Given the description of an element on the screen output the (x, y) to click on. 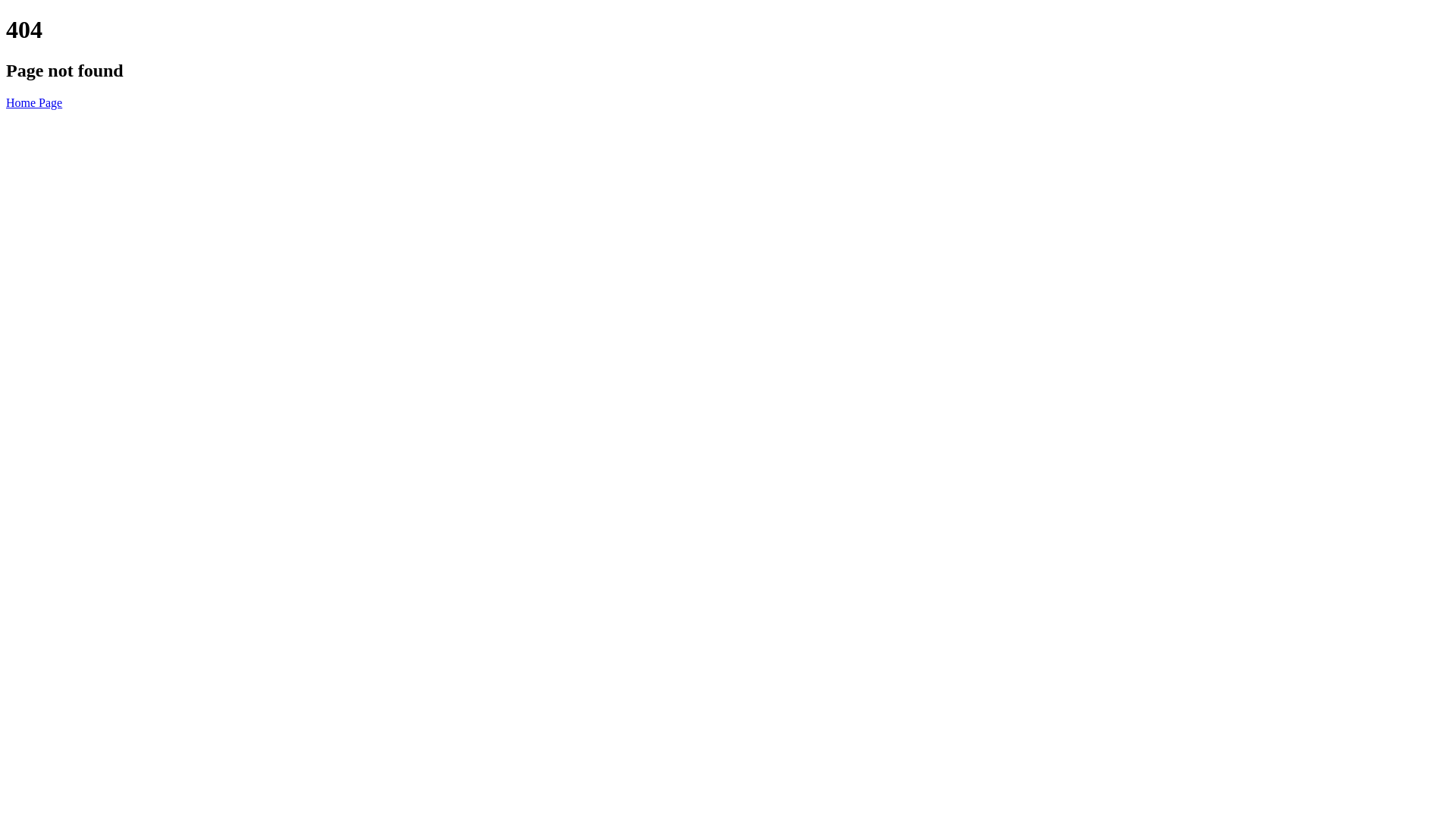
Home Page Element type: text (34, 102)
